Given the description of an element on the screen output the (x, y) to click on. 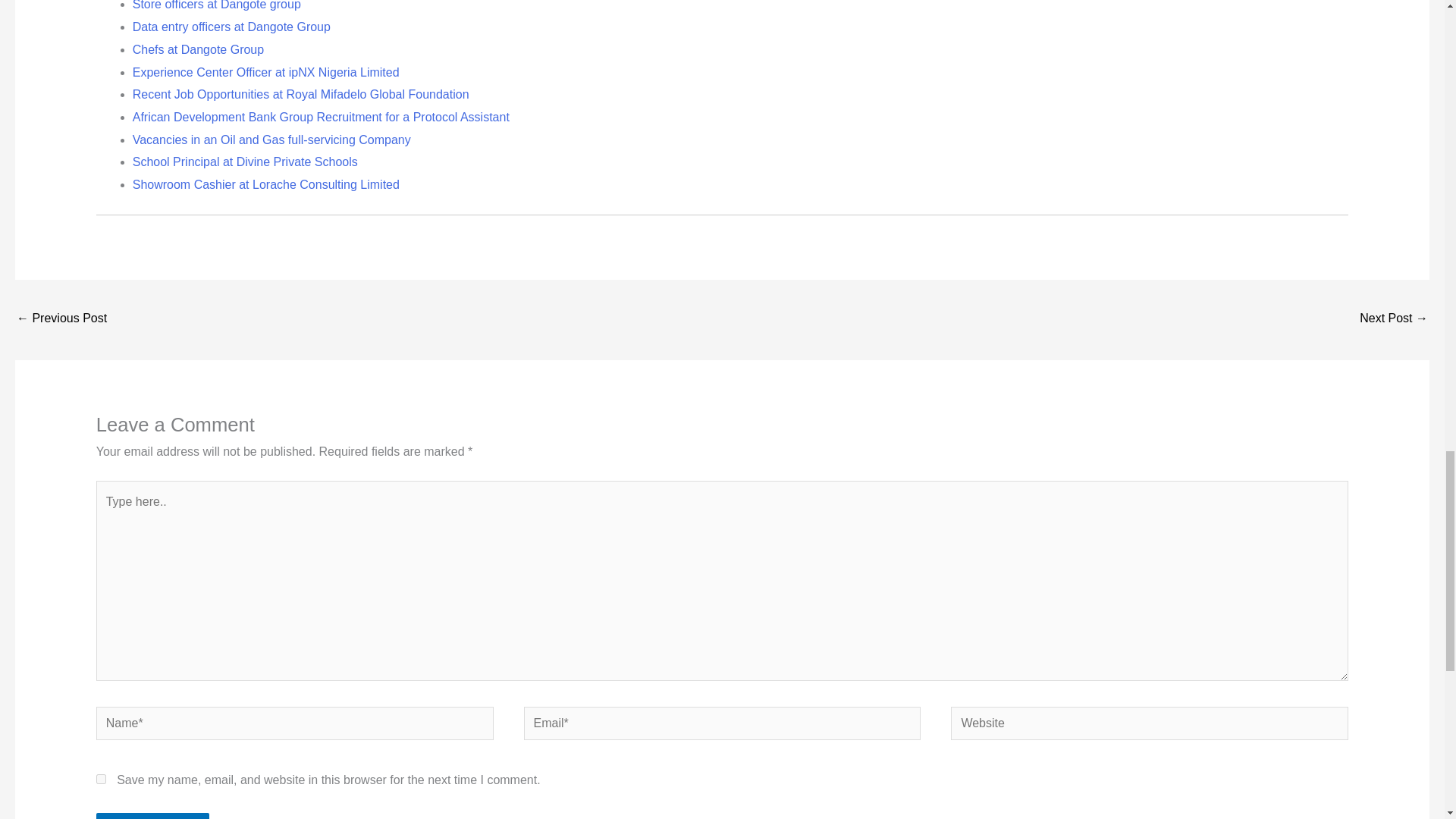
Recent Job Opportunities at Royal Mifadelo Global Foundation (300, 93)
Store officers at Dangote group (216, 5)
yes (101, 778)
School Principal at Divine Private Schools (245, 161)
HSE Assistants at Dangote Group (1393, 319)
Showroom Cashier at Lorache Consulting Limited (265, 184)
Vacancies in an Oil and Gas full-servicing Company (271, 139)
Data entry officers at Dangote Group (231, 26)
Experience Center Officer at ipNX Nigeria Limited (265, 72)
